Given the description of an element on the screen output the (x, y) to click on. 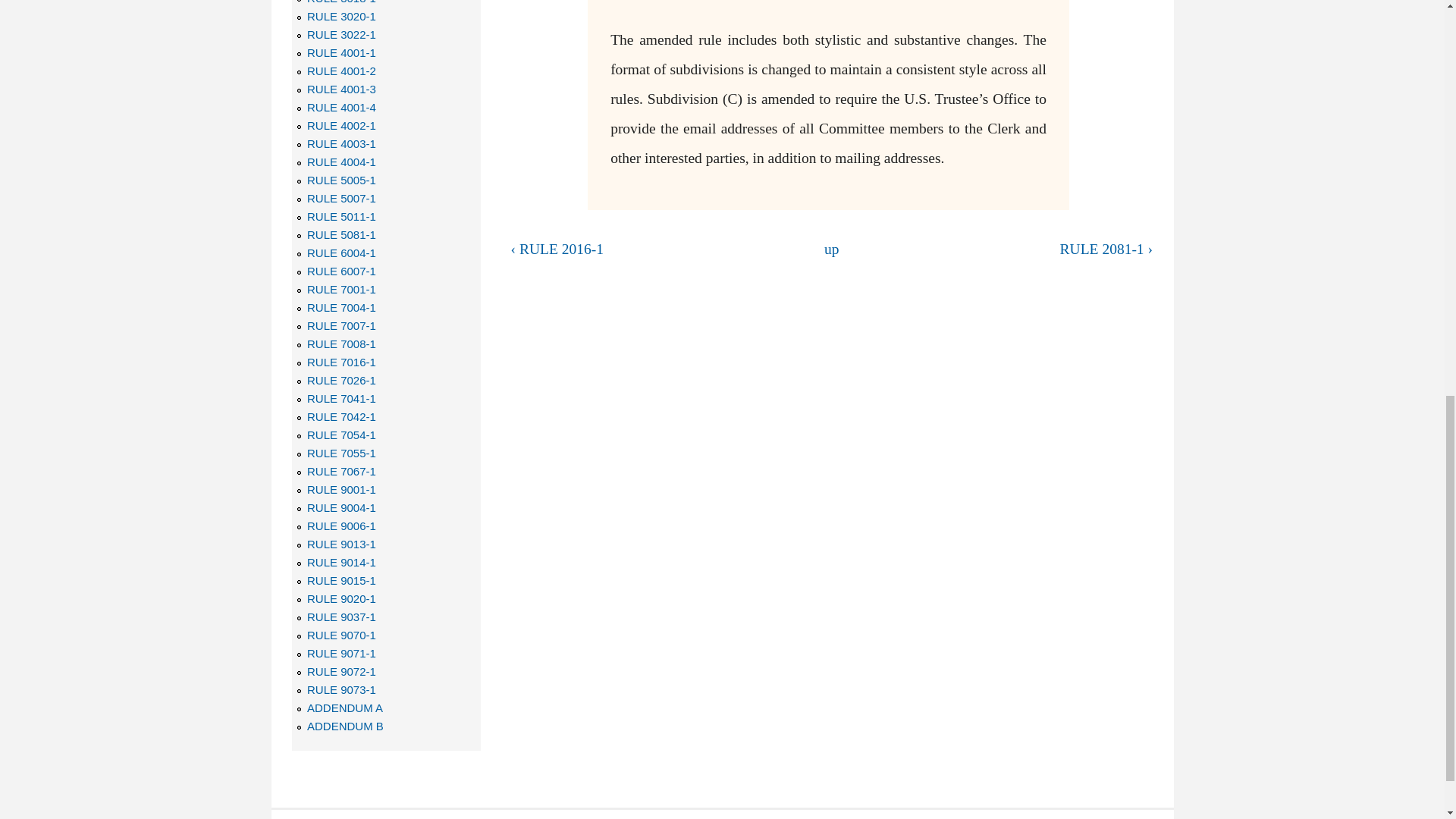
Go to previous page (655, 249)
Go to next page (1008, 249)
Go to parent page (831, 249)
